Given the description of an element on the screen output the (x, y) to click on. 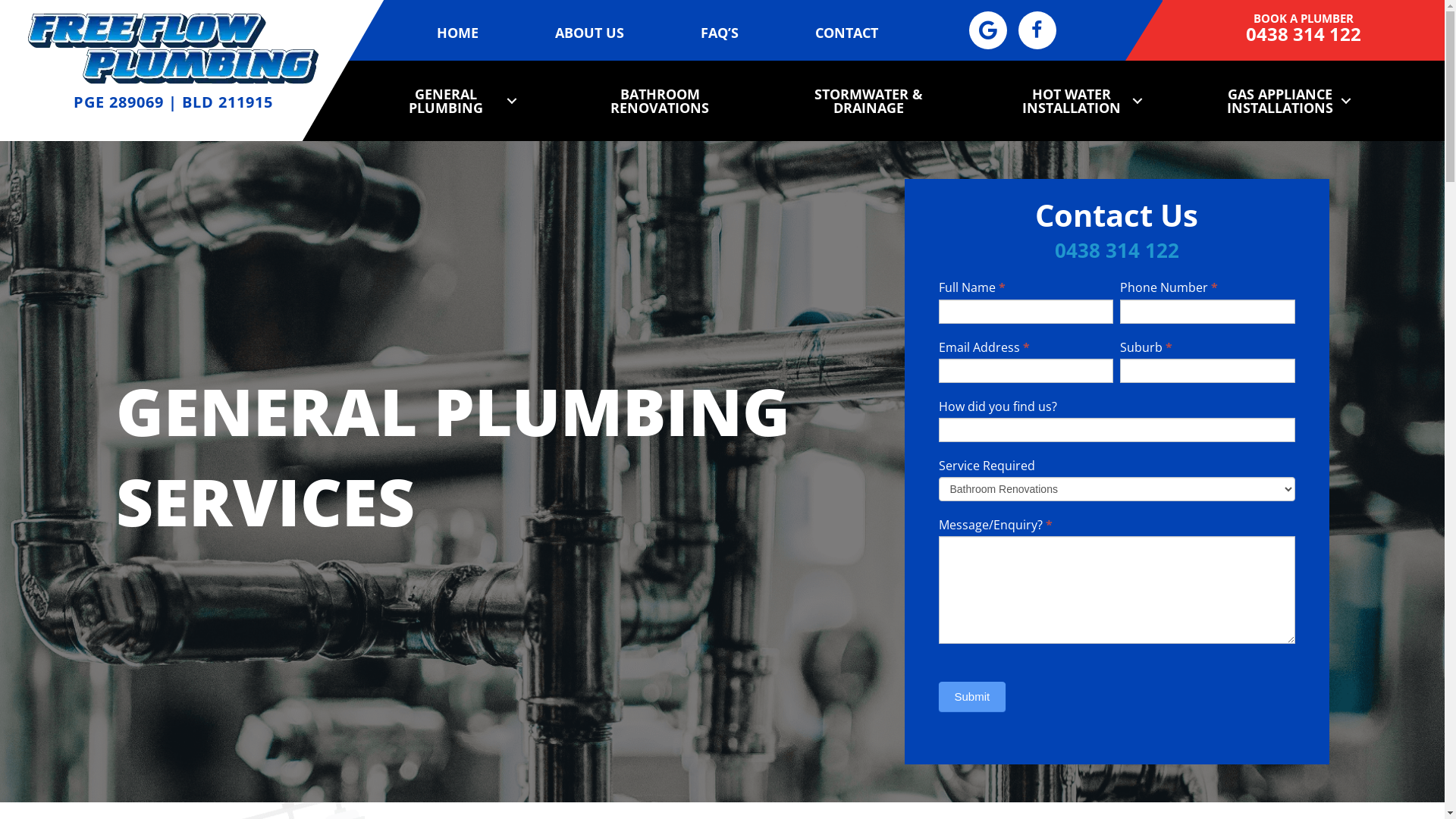
HOME Element type: text (457, 32)
GENERAL PLUMBING Element type: text (450, 100)
HOT WATER INSTALLATION Element type: text (1076, 100)
STORMWATER & DRAINAGE Element type: text (868, 100)
Group 190 Element type: hover (173, 48)
BATHROOM RENOVATIONS Element type: text (659, 100)
GAS APPLIANCE INSTALLATIONS Element type: text (1285, 100)
Submit Element type: text (972, 696)
0438 314 122 Element type: text (1303, 37)
ABOUT US Element type: text (589, 32)
CONTACT Element type: text (846, 32)
